Given the description of an element on the screen output the (x, y) to click on. 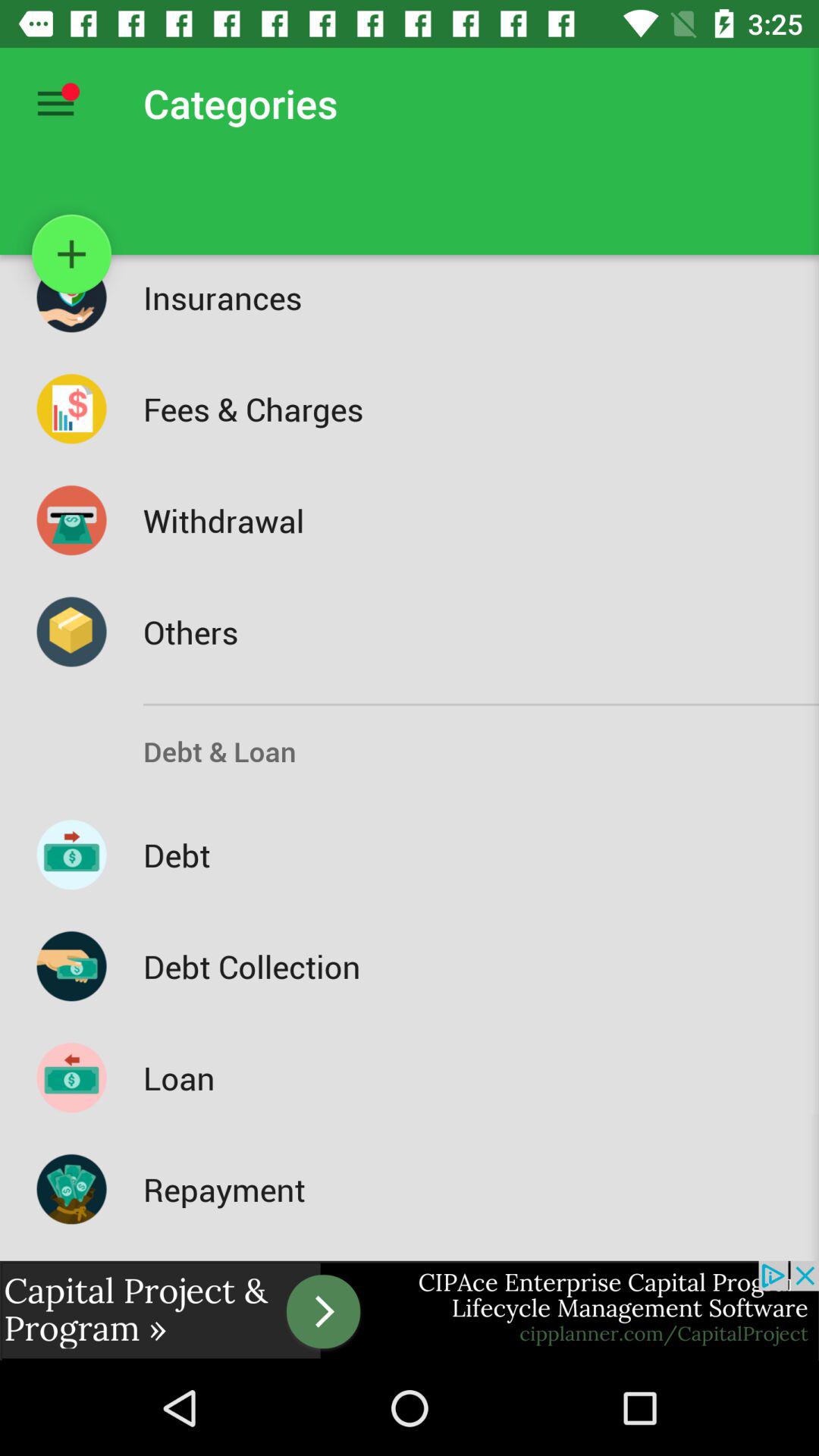
settings (55, 103)
